Given the description of an element on the screen output the (x, y) to click on. 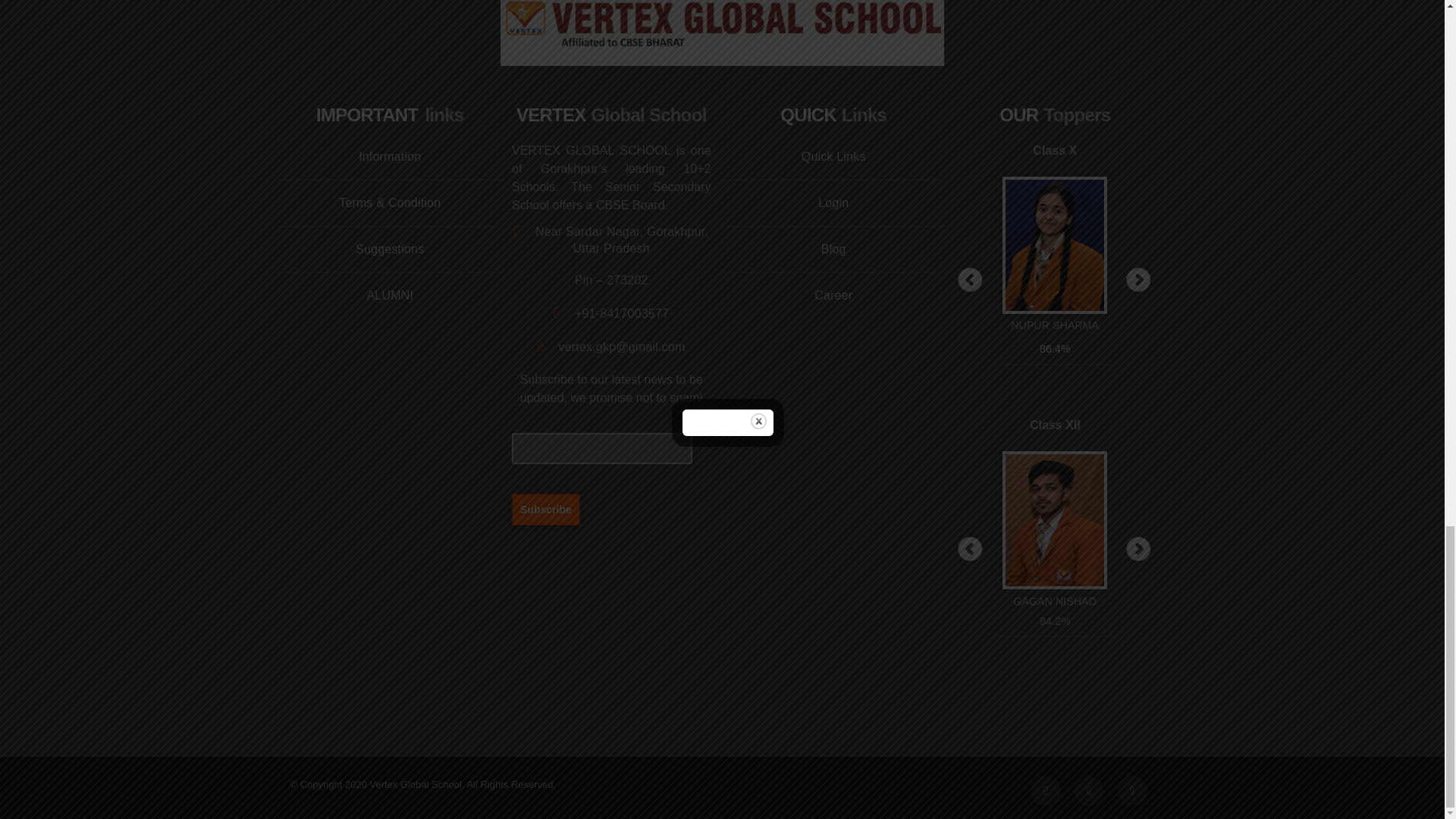
Subscribe (545, 508)
